Given the description of an element on the screen output the (x, y) to click on. 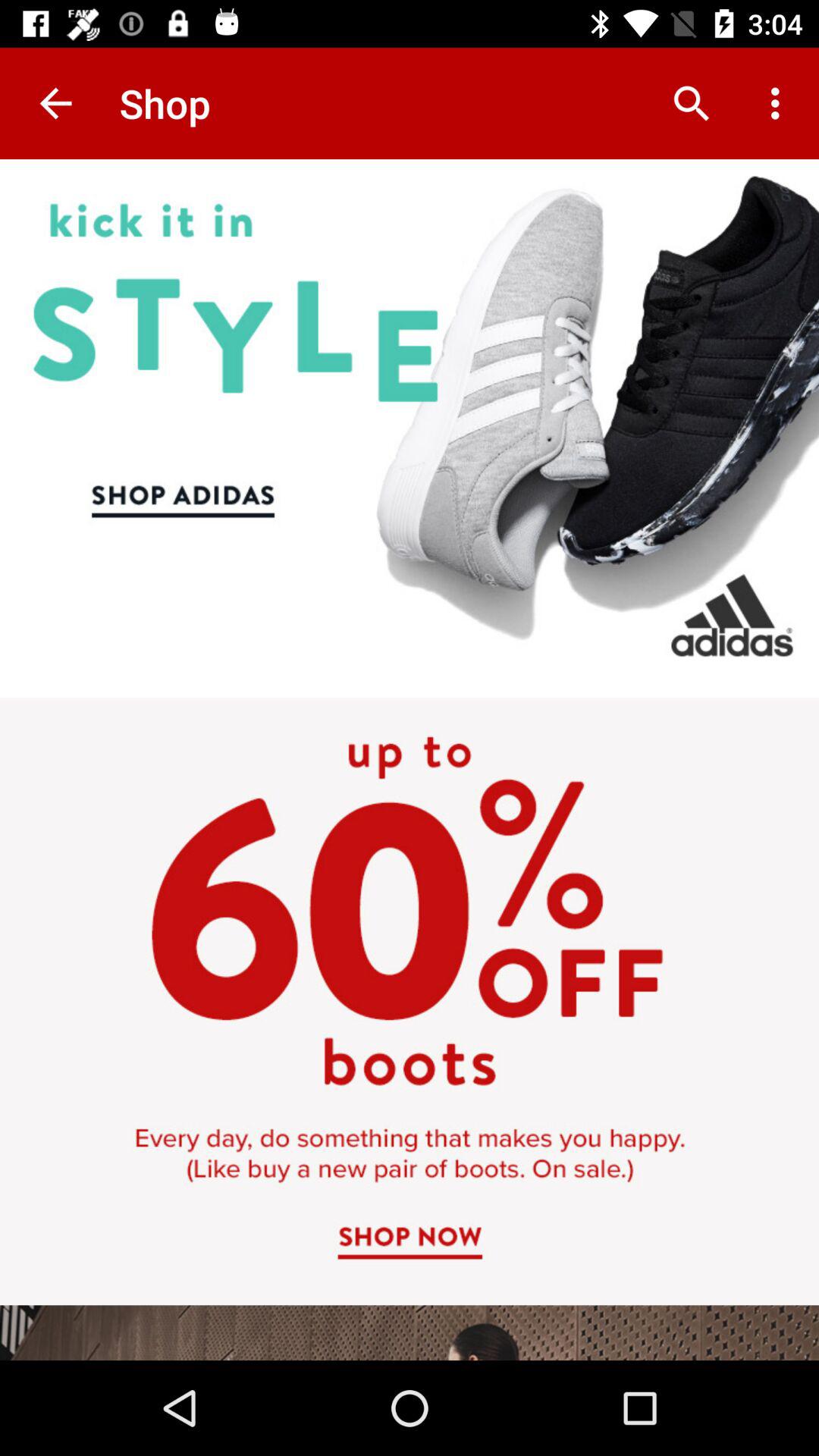
advertisement page (409, 759)
